Given the description of an element on the screen output the (x, y) to click on. 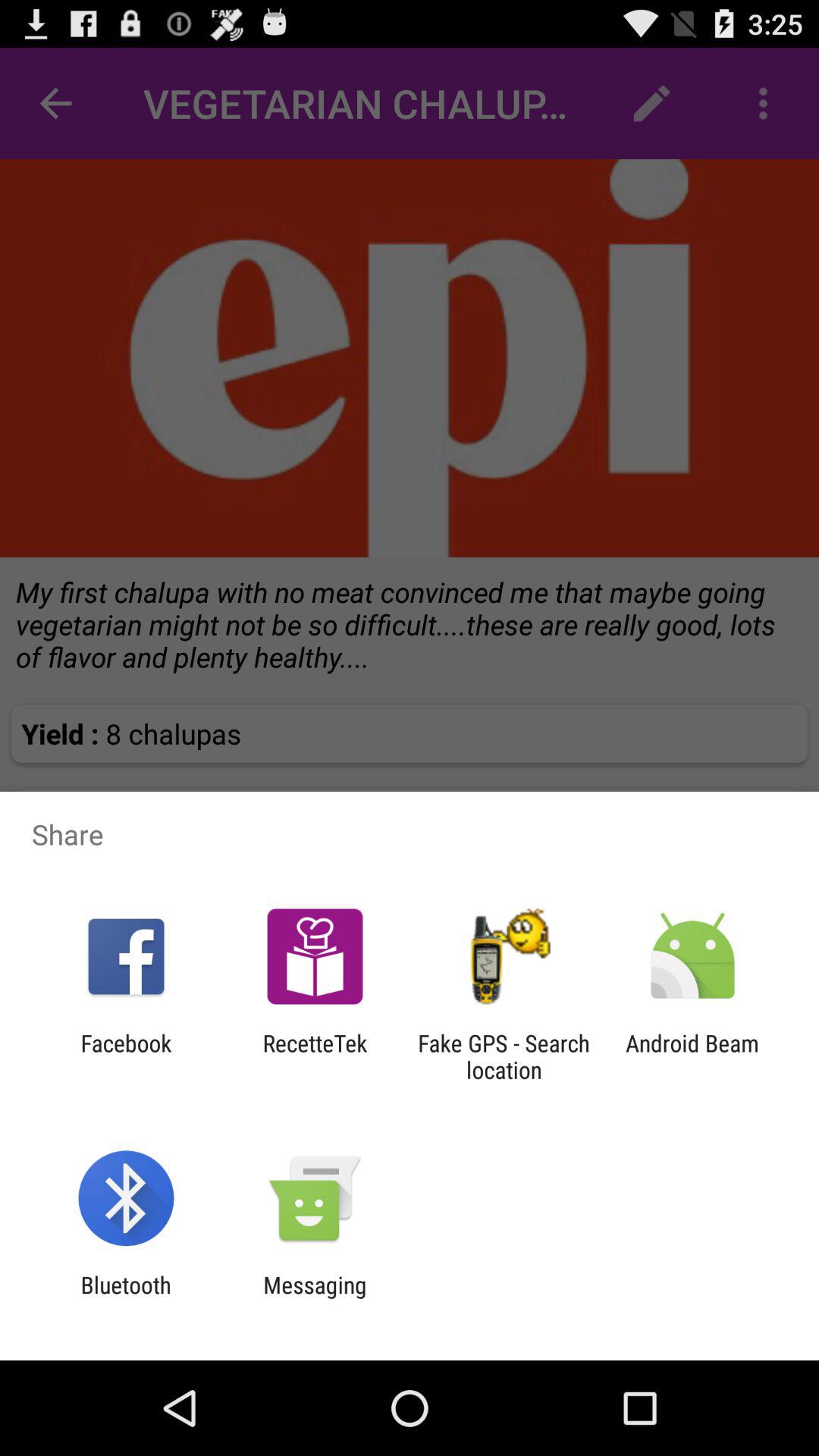
press the app to the right of bluetooth item (314, 1298)
